Given the description of an element on the screen output the (x, y) to click on. 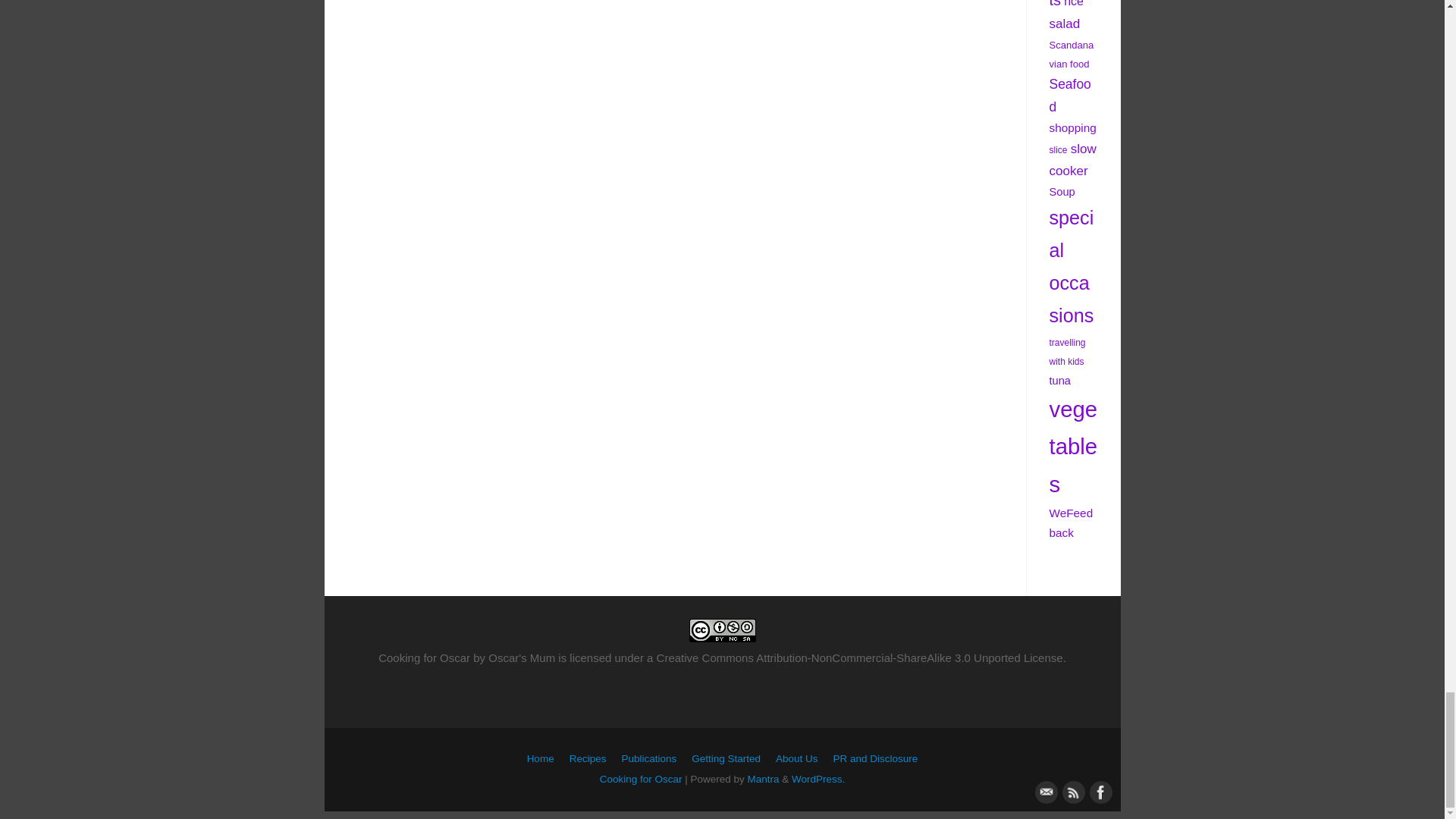
Mail (1043, 790)
RSS (1071, 790)
Facebook (1098, 790)
Mantra Theme by Cryout Creations (763, 778)
Cooking for Oscar (640, 778)
Semantic Personal Publishing Platform (818, 778)
